Given the description of an element on the screen output the (x, y) to click on. 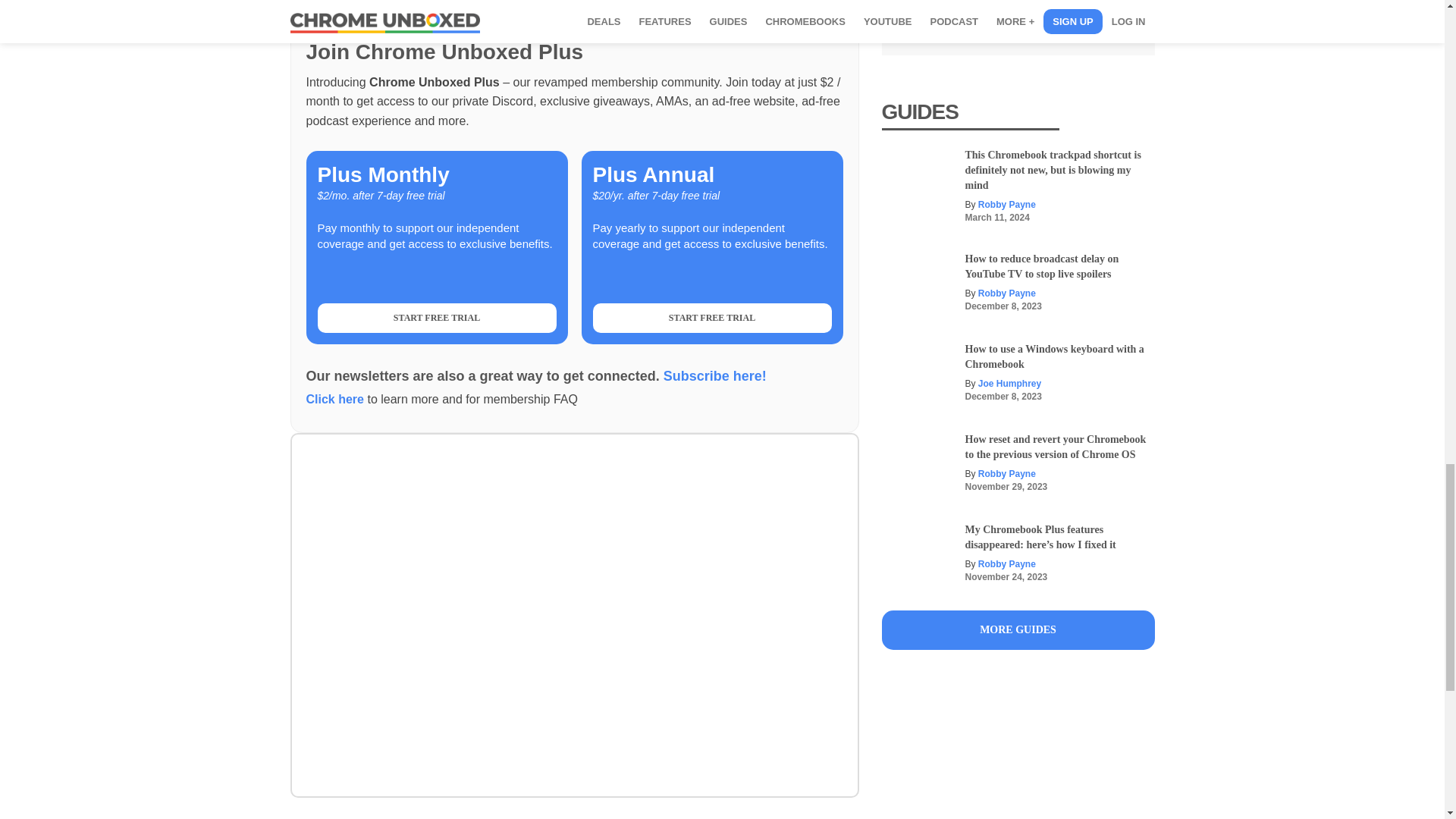
Guides and How-To's (1017, 630)
